Given the description of an element on the screen output the (x, y) to click on. 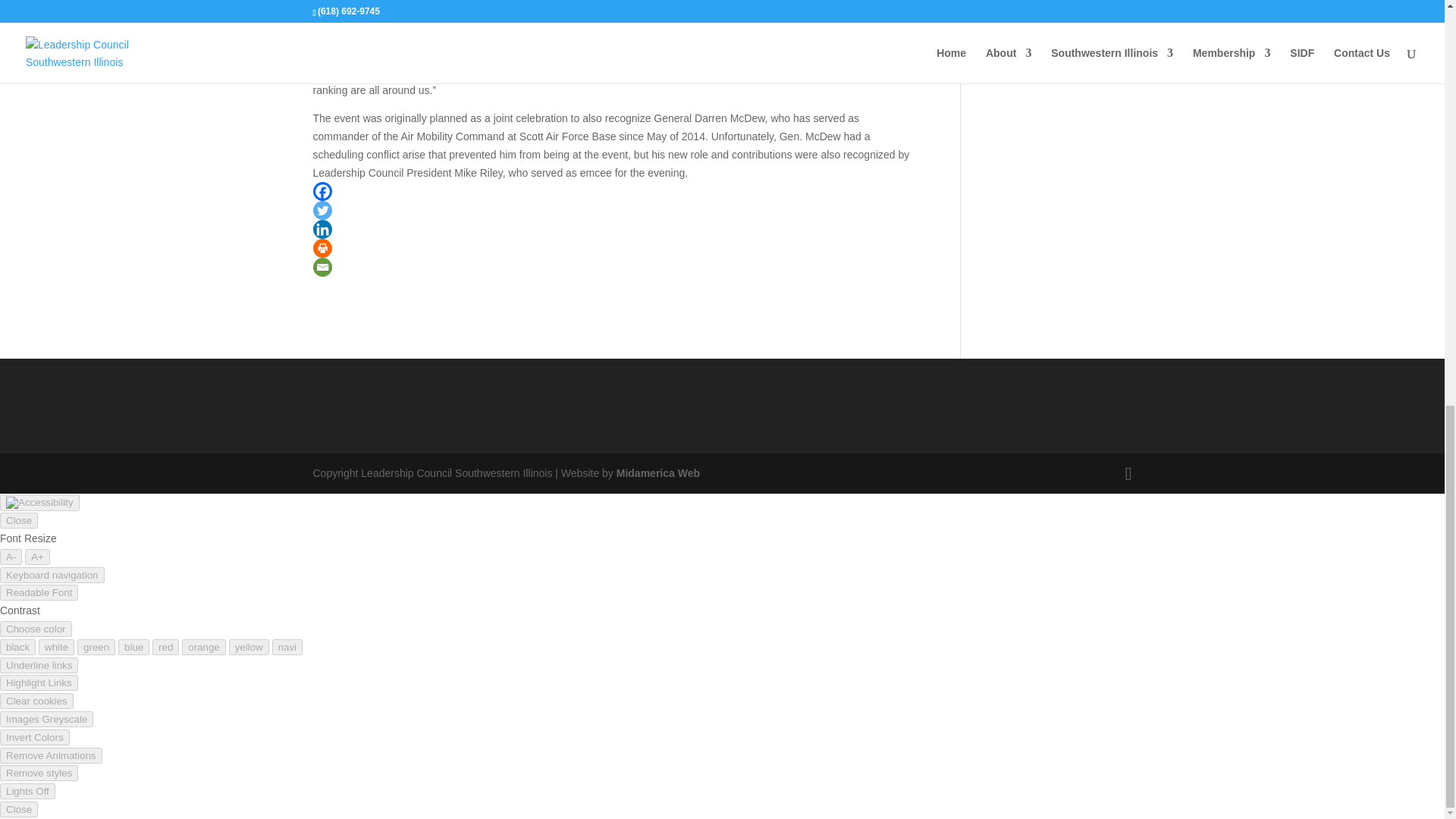
white (56, 647)
Linkedin (322, 229)
red (165, 647)
Readable Font (39, 592)
Twitter (322, 210)
Close (18, 520)
Keyboard navigation (52, 575)
Accessibility Helper sidebar (40, 502)
blue (133, 647)
Close (18, 520)
Print (322, 248)
black (17, 647)
Facebook (322, 190)
Contrast (35, 628)
Email (322, 266)
